Given the description of an element on the screen output the (x, y) to click on. 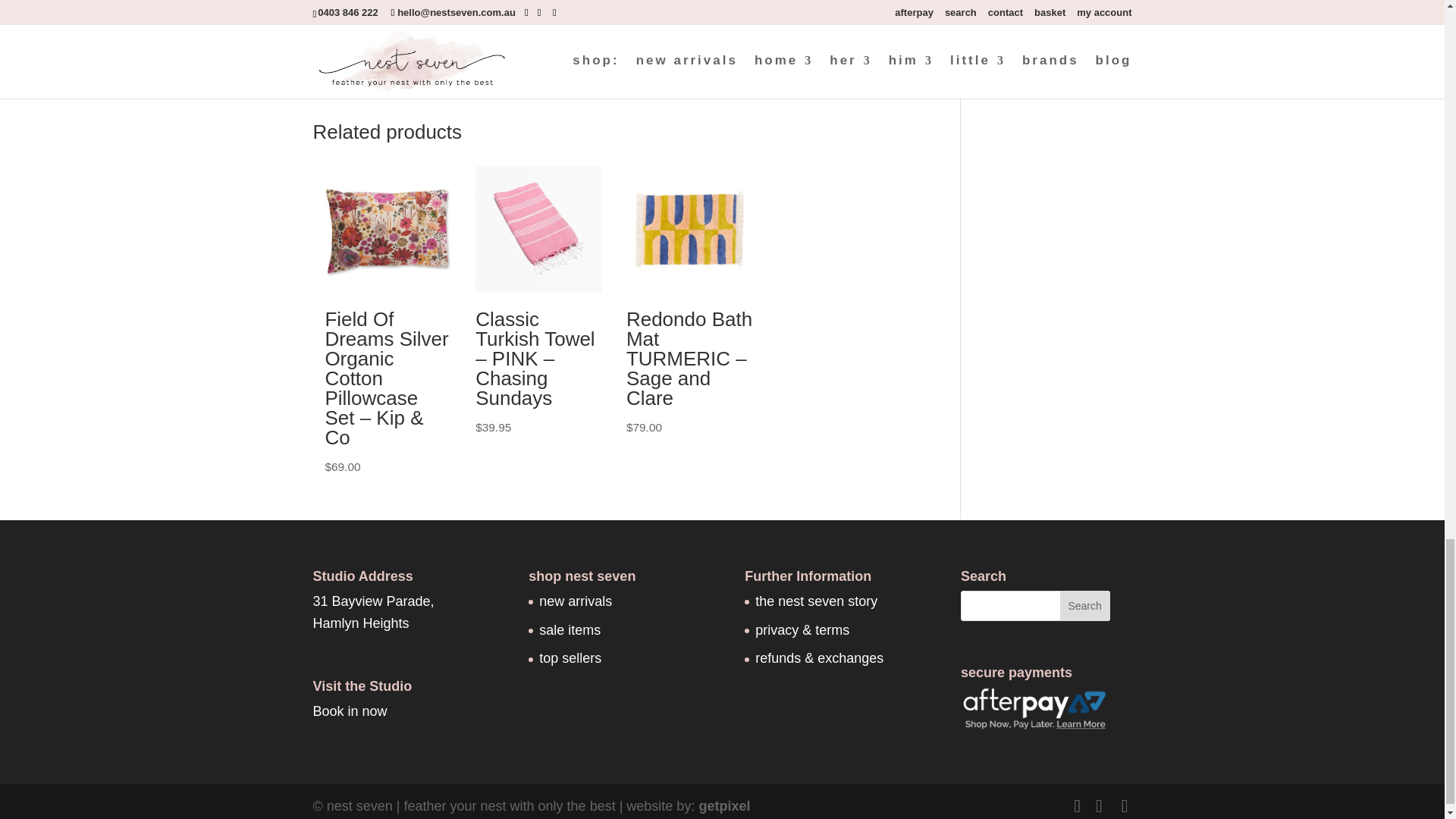
Search (1084, 605)
Website Design Ballarat (723, 806)
